Given the description of an element on the screen output the (x, y) to click on. 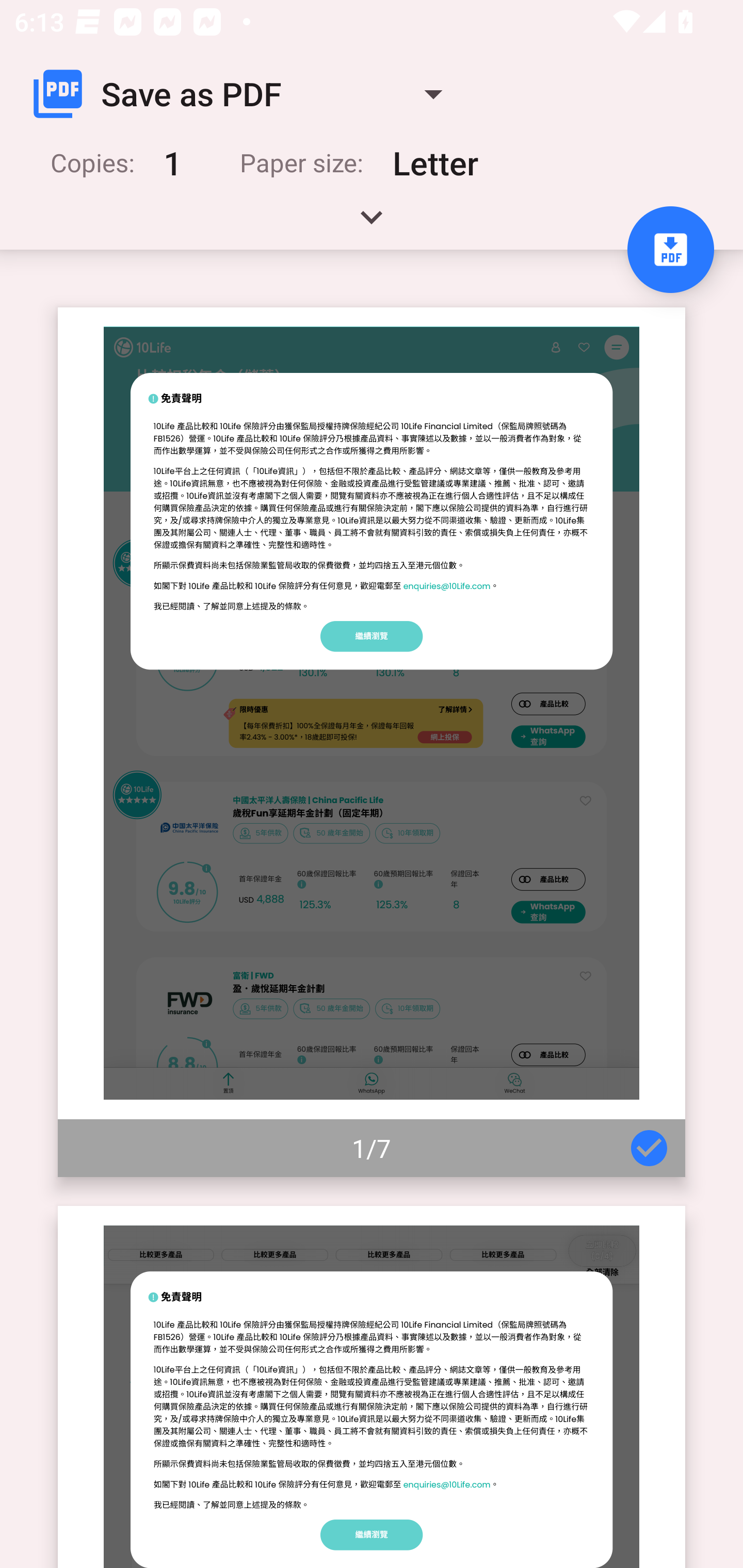
Save as PDF (245, 93)
Expand handle (371, 224)
Save to PDF (670, 249)
Page 1 of 7 1/7 (371, 742)
Page 2 of 7 (371, 1386)
